Given the description of an element on the screen output the (x, y) to click on. 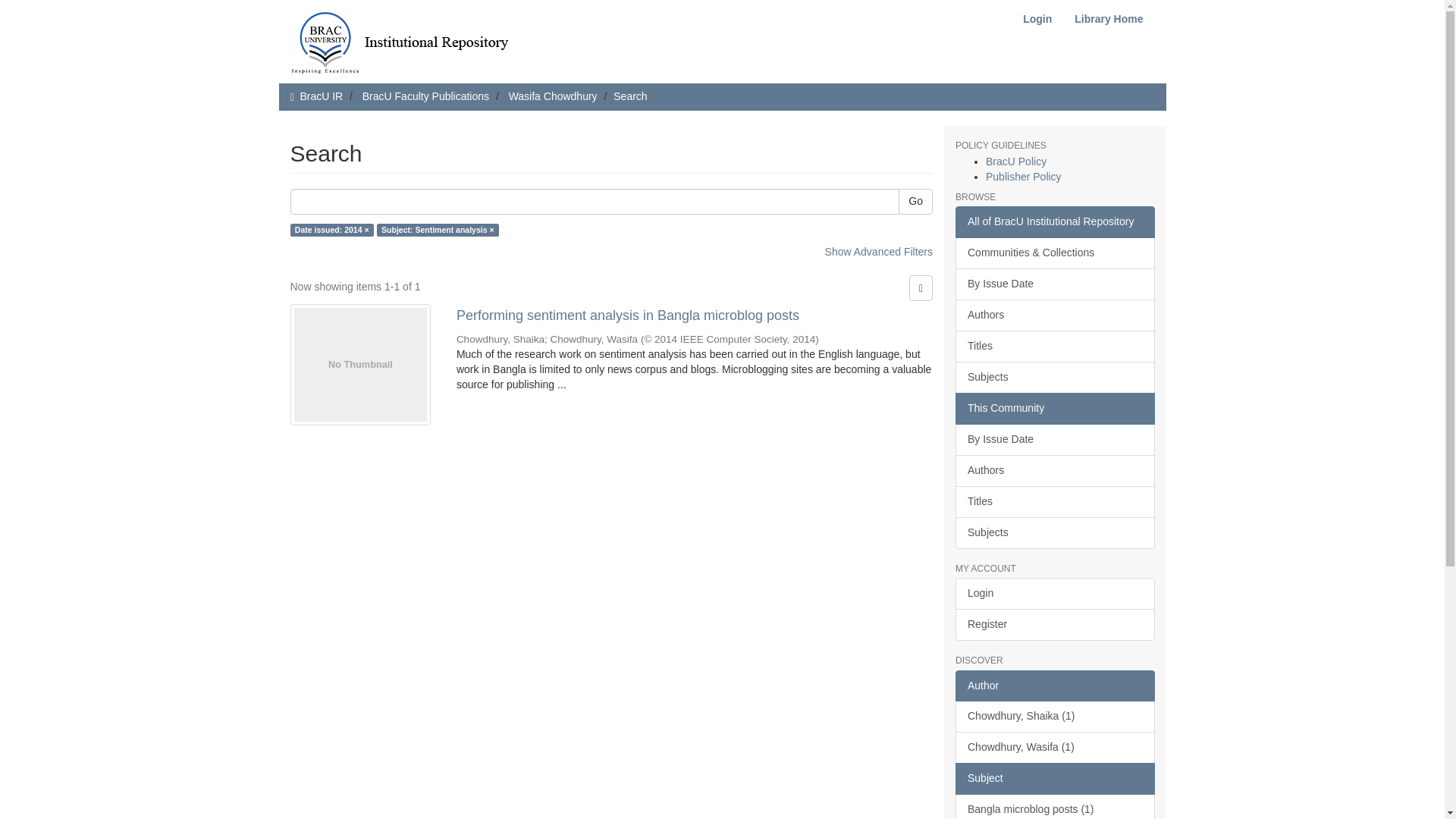
Library Home (1108, 19)
Wasifa Chowdhury (552, 96)
BracU IR (320, 96)
BracU Faculty Publications (425, 96)
Login (1036, 19)
Go (915, 201)
Show Advanced Filters (879, 251)
Performing sentiment analysis in Bangla microblog posts  (695, 315)
